Given the description of an element on the screen output the (x, y) to click on. 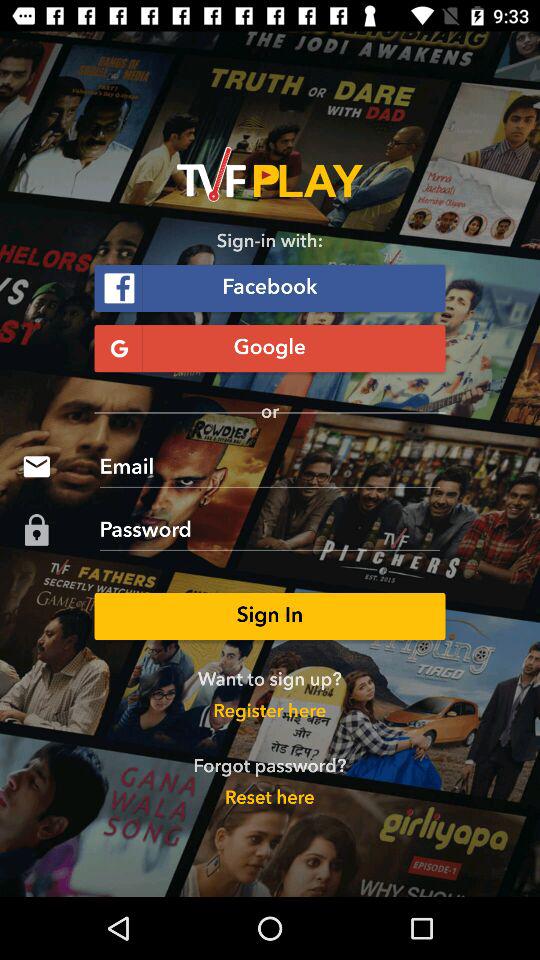
flip to the register here (269, 711)
